Given the description of an element on the screen output the (x, y) to click on. 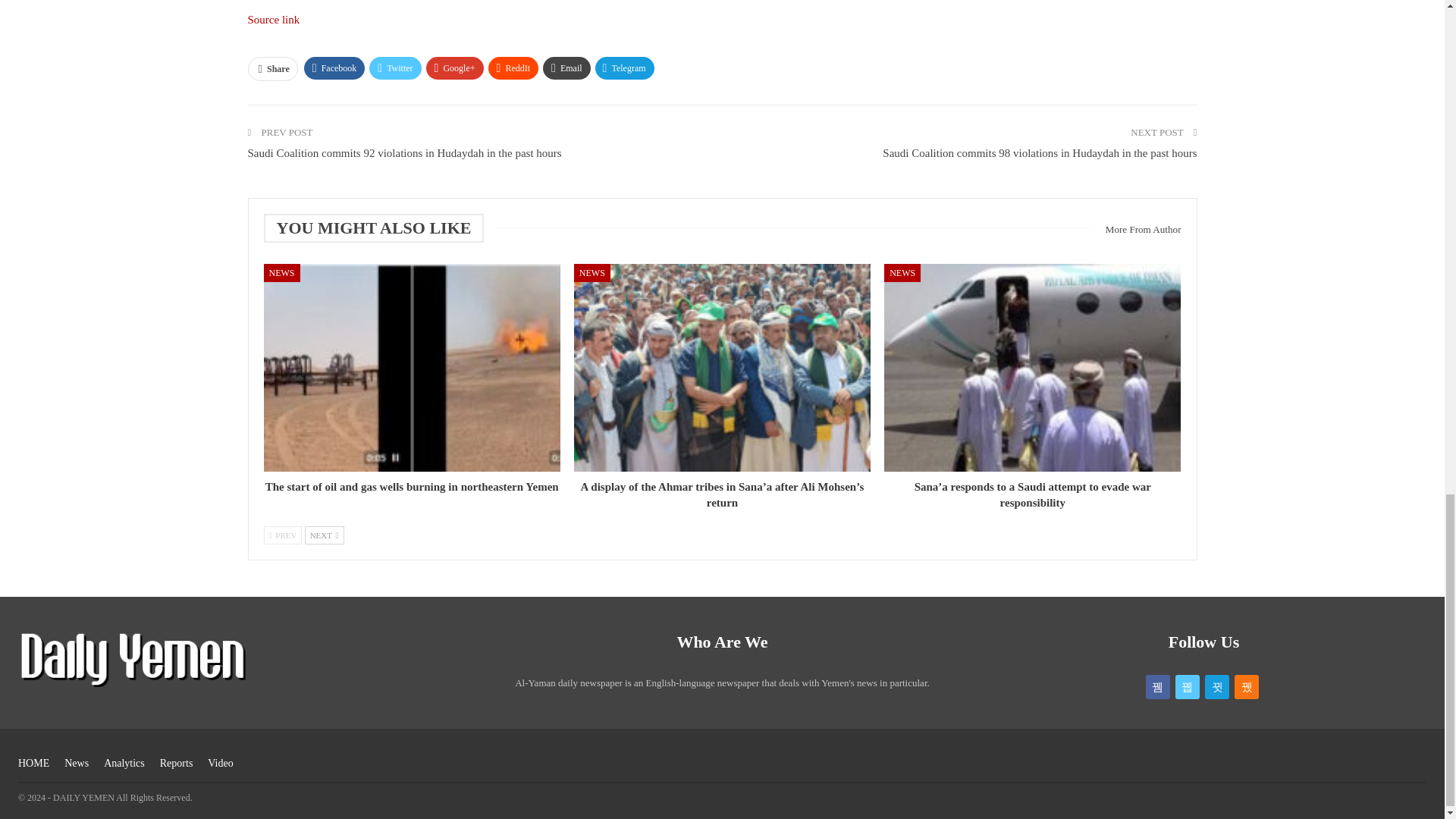
The start of oil and gas wells burning in northeastern Yemen (411, 486)
Next (323, 535)
The start of oil and gas wells burning in northeastern Yemen (411, 367)
Source link (273, 19)
Previous (282, 535)
